Given the description of an element on the screen output the (x, y) to click on. 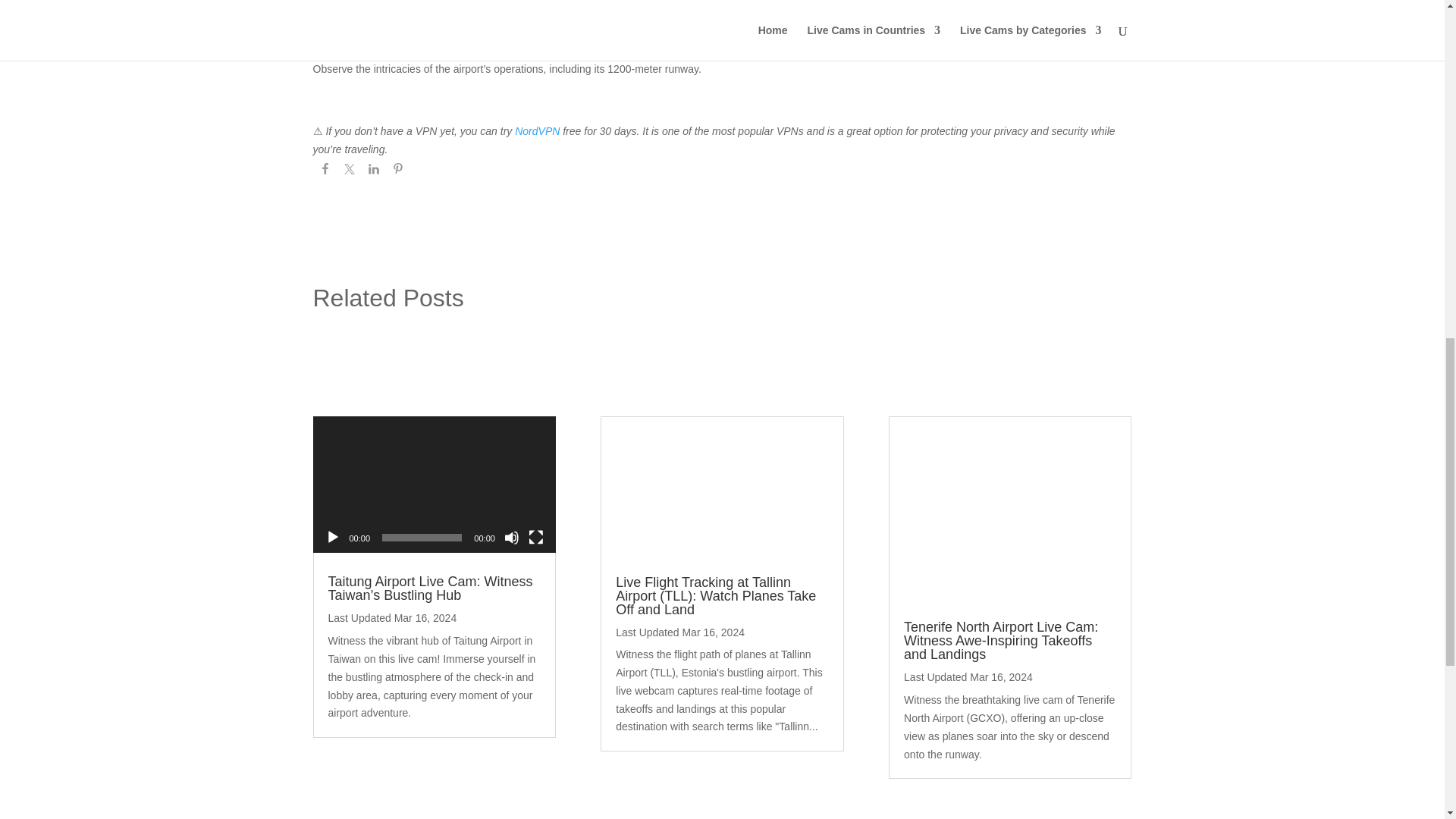
Fullscreen (535, 537)
Mute (511, 537)
Share on Twitter (348, 170)
Share on Pinterest (397, 170)
Share on Facebook (324, 170)
Share on LinkedIn (373, 170)
Play (331, 537)
